Given the description of an element on the screen output the (x, y) to click on. 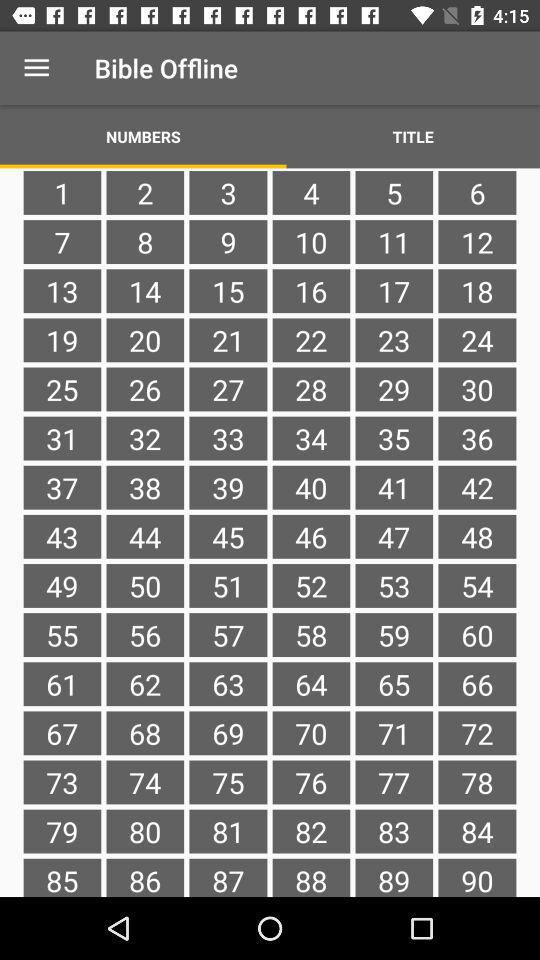
open the icon next to the 70 (394, 782)
